Given the description of an element on the screen output the (x, y) to click on. 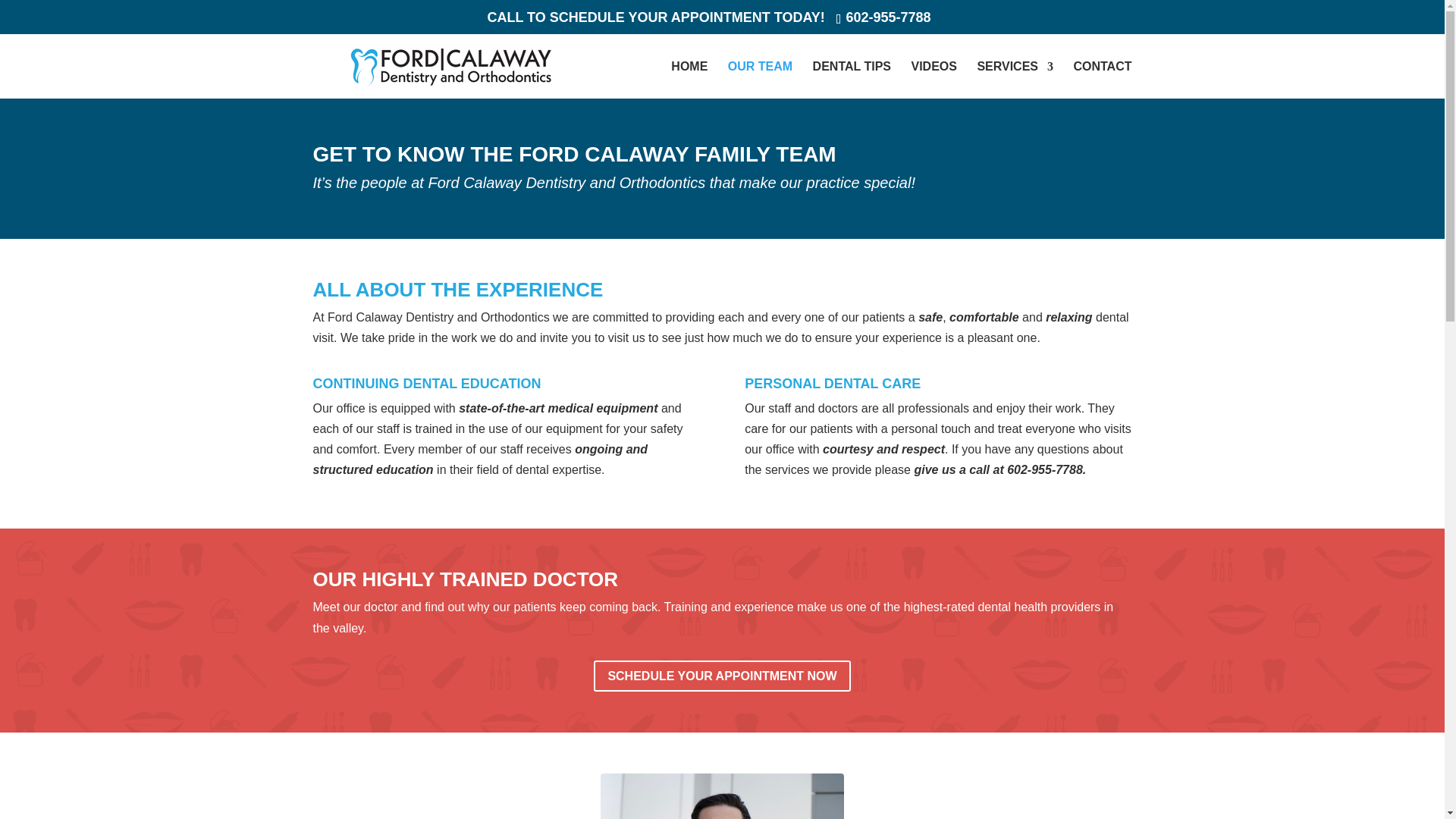
SCHEDULE YOUR APPOINTMENT NOW (722, 675)
VIDEOS (933, 79)
HOME (689, 79)
602-955-7788 (887, 16)
CONTACT (1102, 79)
602-955-7788 (1045, 469)
photo mar 22 2024, 10 29 11 am (721, 796)
SERVICES (1014, 79)
DENTAL TIPS (851, 79)
OUR TEAM (760, 79)
